Given the description of an element on the screen output the (x, y) to click on. 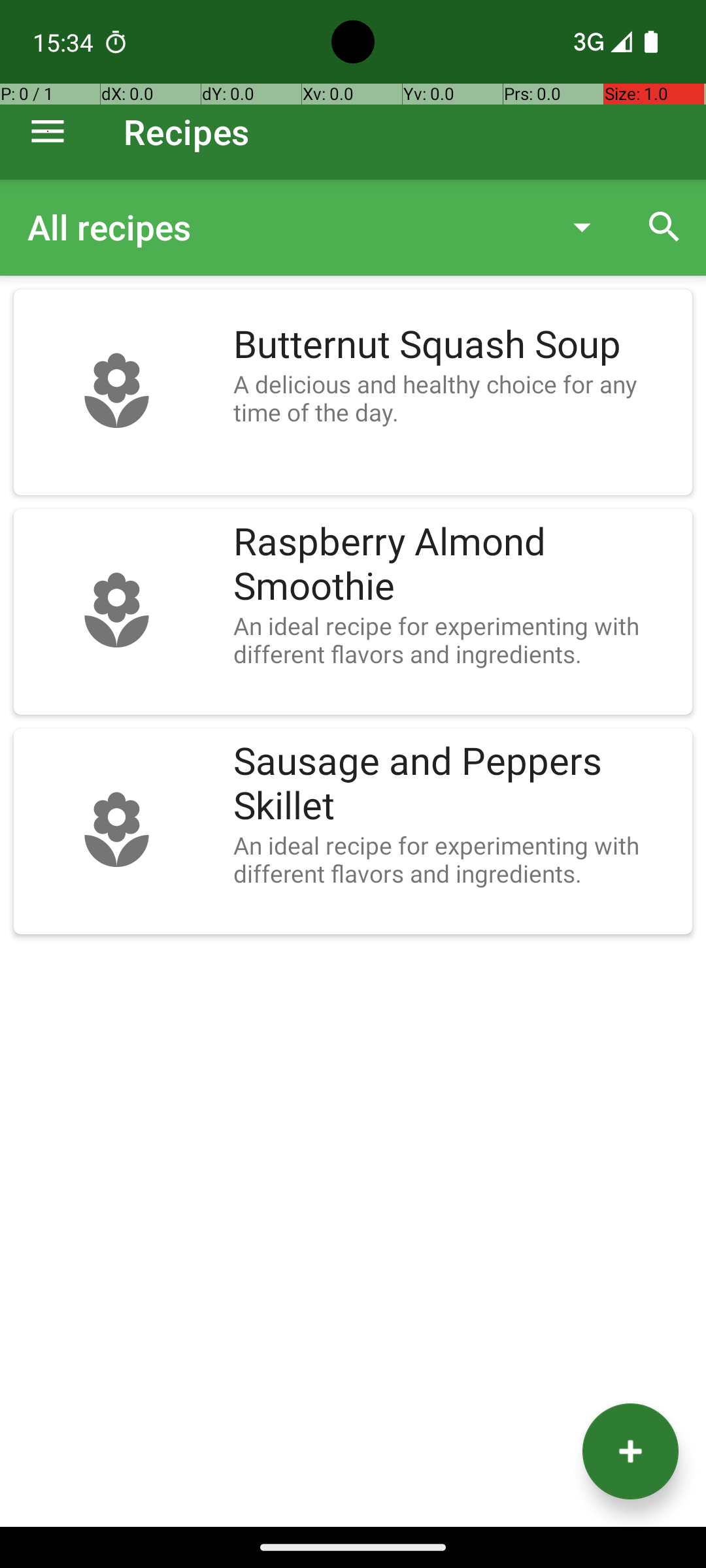
Raspberry Almond Smoothie Element type: android.widget.TextView (455, 564)
